Given the description of an element on the screen output the (x, y) to click on. 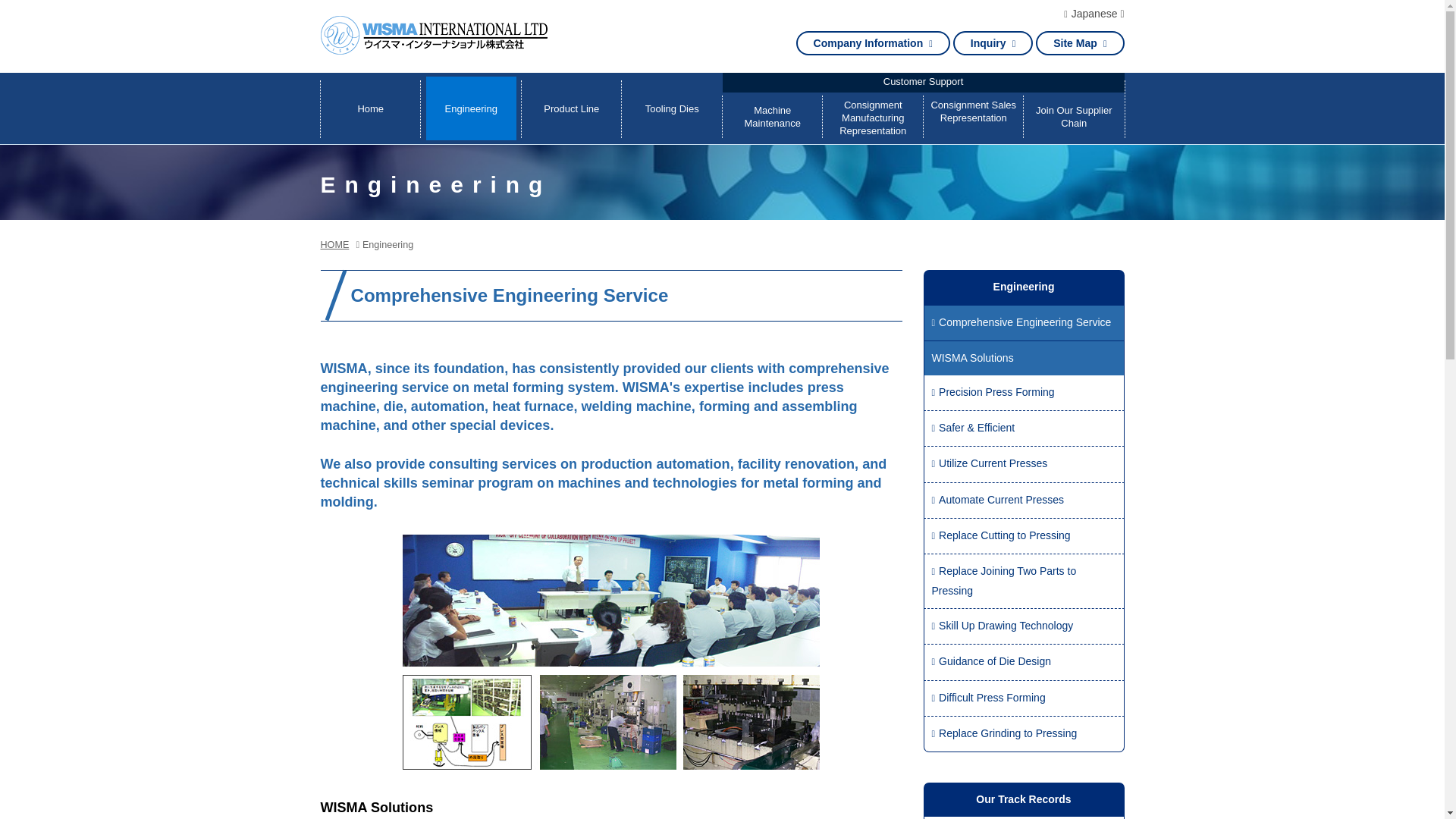
Replace Joining Two Parts to Pressing (1023, 580)
Consignment Manufacturing Representation (873, 117)
Consignment Sales Representation (972, 117)
Tooling Dies (672, 108)
Site Map (1079, 43)
Inquiry (992, 43)
Precision Press Forming (1023, 392)
Company Information (873, 43)
Join Our Supplier Chain (1074, 117)
HOME (334, 244)
